Given the description of an element on the screen output the (x, y) to click on. 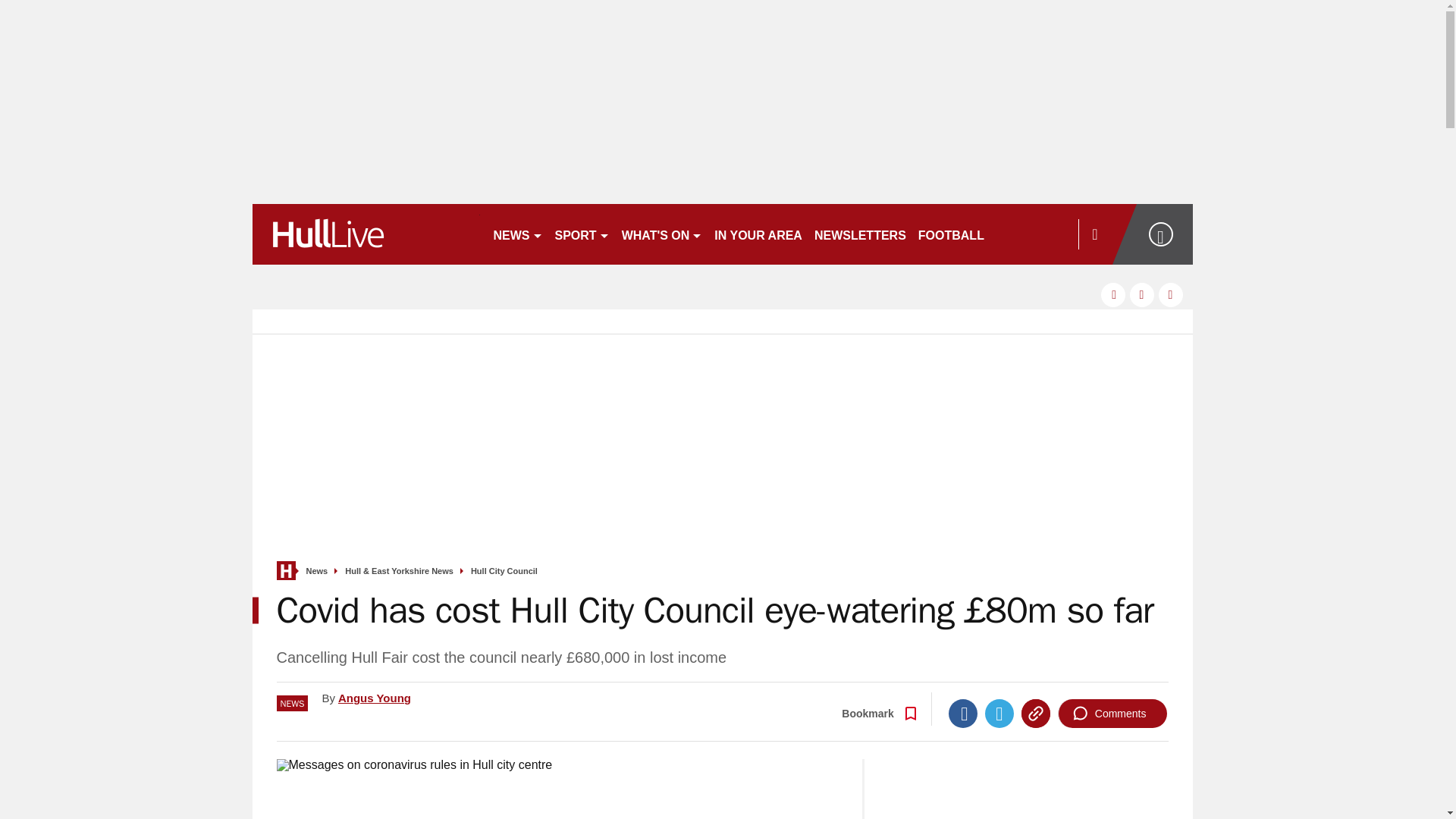
WHAT'S ON (662, 233)
facebook (1112, 294)
instagram (1170, 294)
Twitter (999, 713)
FOOTBALL (951, 233)
NEWSLETTERS (860, 233)
twitter (1141, 294)
SPORT (581, 233)
RUGBY LEAGUE (1045, 233)
IN YOUR AREA (757, 233)
Comments (1112, 713)
hulldailymail (365, 233)
Facebook (962, 713)
NEWS (517, 233)
